Given the description of an element on the screen output the (x, y) to click on. 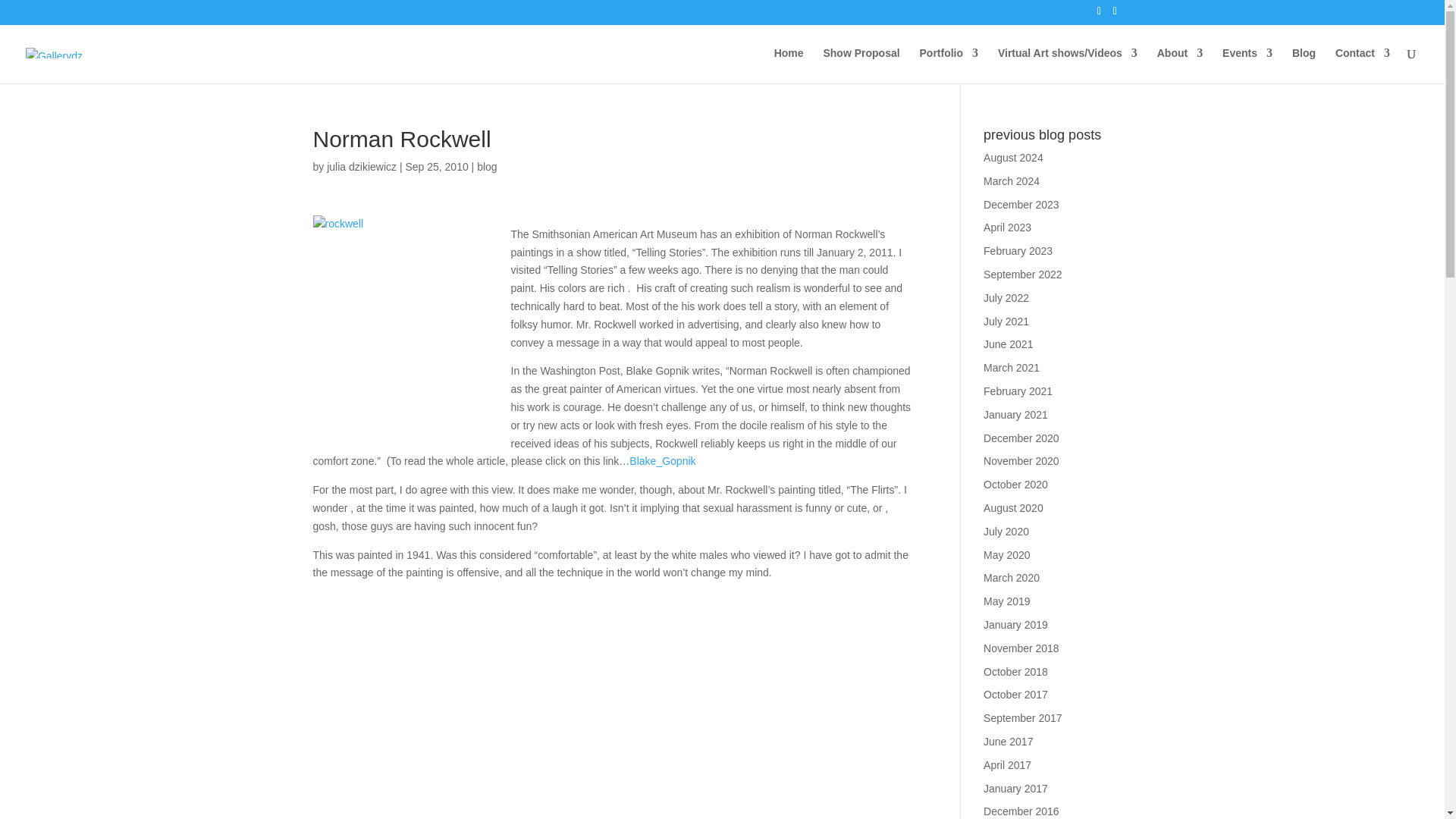
Portfolio (948, 65)
Events (1247, 65)
Posts by julia dzikiewicz (361, 166)
Show Proposal (860, 65)
About (1179, 65)
Contact (1362, 65)
